Given the description of an element on the screen output the (x, y) to click on. 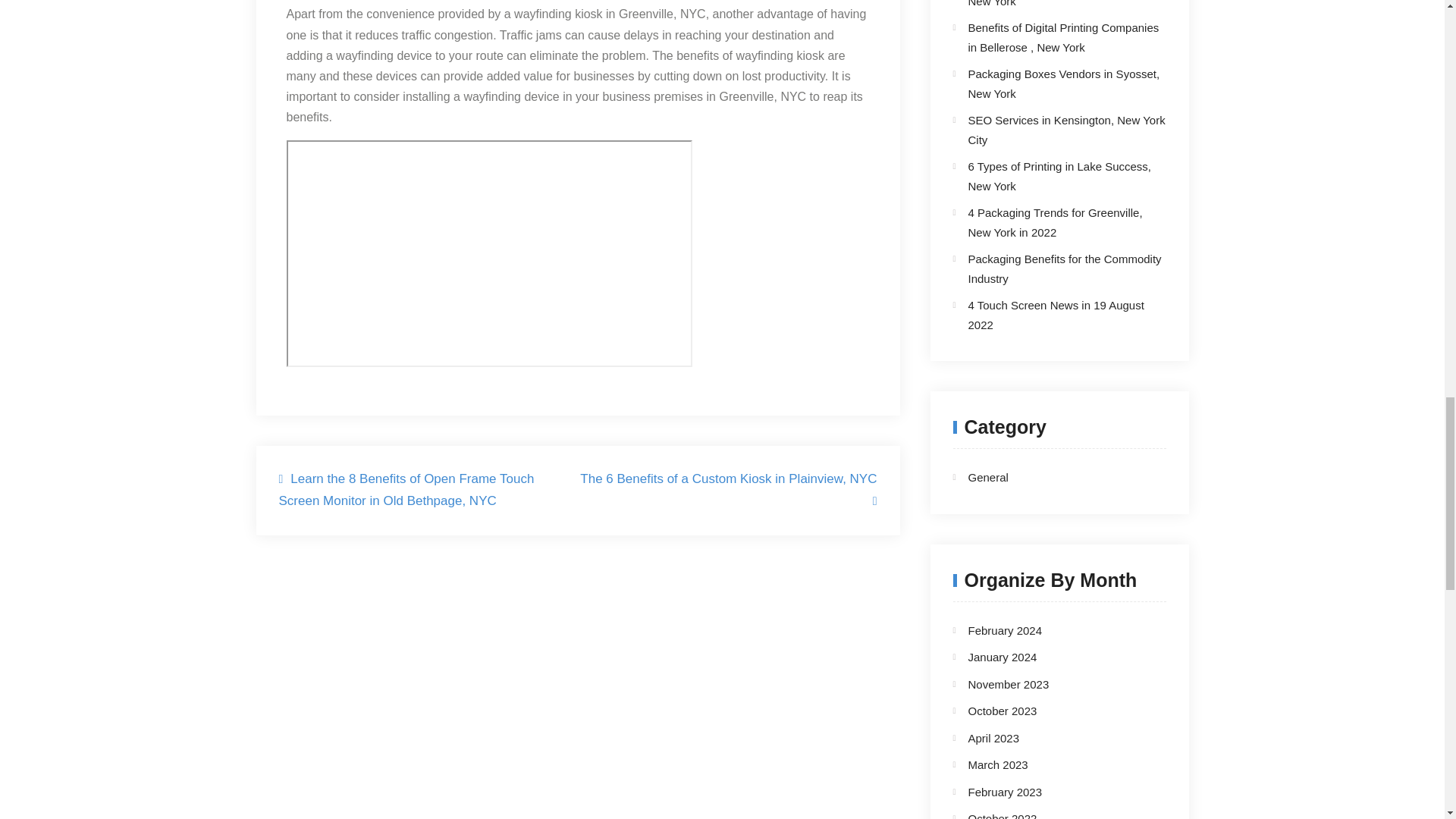
February 2024 (1005, 630)
6 Types of Printing in Lake Success, New York (1059, 175)
Packaging Benefits for the Commodity Industry (1064, 268)
General (1046, 477)
November 2023 (1008, 684)
The 6 Benefits of a Custom Kiosk in Plainview, NYC (727, 489)
4 Touch Screen News in 19 August 2022 (1055, 314)
January 2024 (1002, 656)
